Given the description of an element on the screen output the (x, y) to click on. 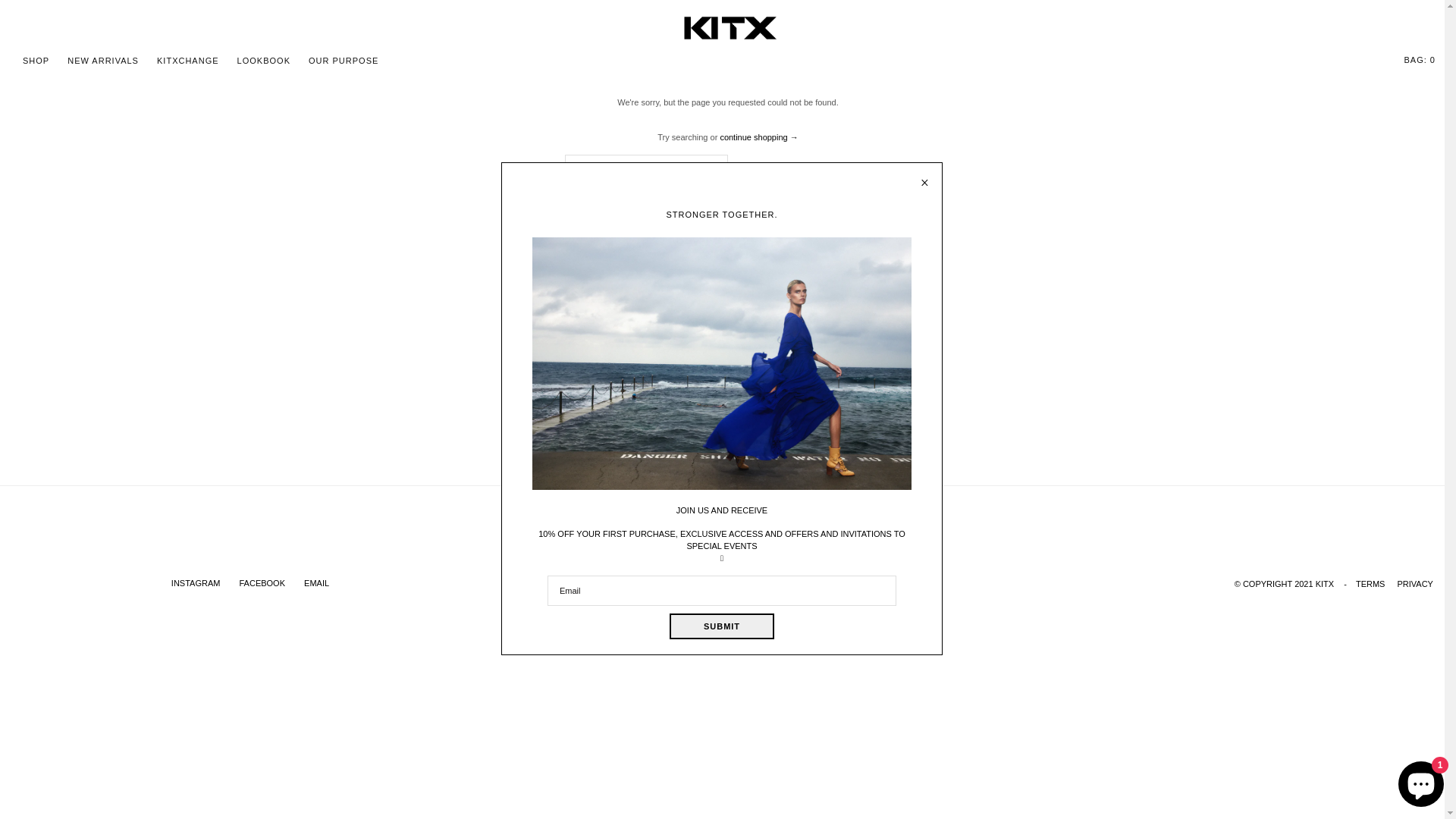
BAG: 0 Element type: text (1417, 60)
EMAIL Element type: text (316, 582)
ABOUT Element type: text (561, 584)
Submit Element type: text (721, 626)
REQUEST A RETURN Element type: text (866, 584)
FACEBOOK Element type: text (262, 582)
OUR PURPOSE Element type: text (343, 60)
Close Element type: hover (924, 177)
LOOKBOOK Element type: text (263, 60)
SIZE GUIDE Element type: text (674, 584)
INSTAGRAM Element type: text (196, 582)
TERMS Element type: text (1370, 583)
SHIPPING & RETURNS Element type: text (761, 584)
SHOP Element type: text (35, 60)
Submit Element type: text (873, 543)
NEW ARRIVALS Element type: text (102, 60)
KITXCHANGE Element type: text (187, 60)
CAREERS Element type: text (613, 584)
PRIVACY Element type: text (1414, 583)
Shopify online store chat Element type: hover (1420, 780)
